Given the description of an element on the screen output the (x, y) to click on. 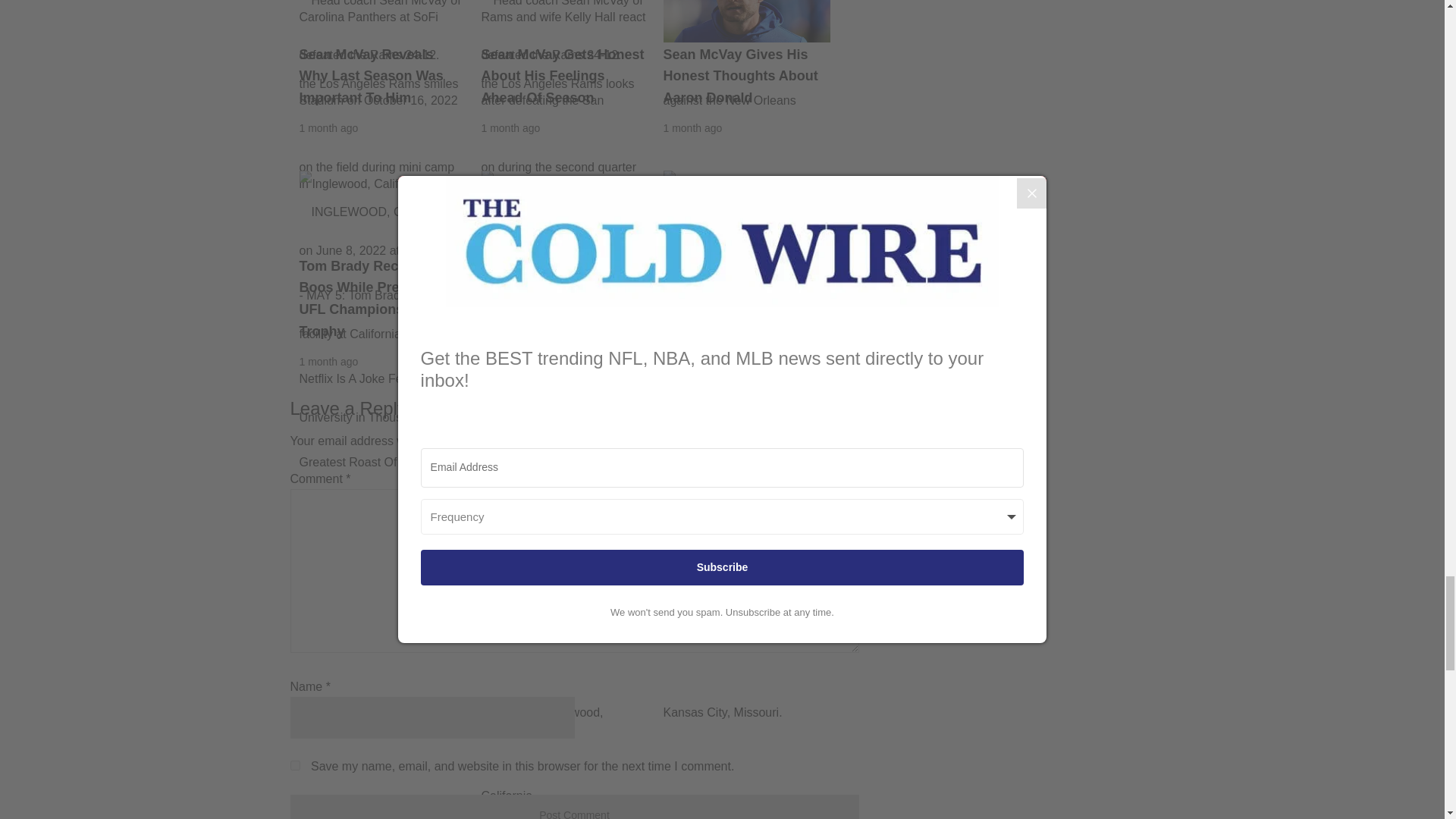
Post Comment (574, 806)
yes (294, 765)
